Given the description of an element on the screen output the (x, y) to click on. 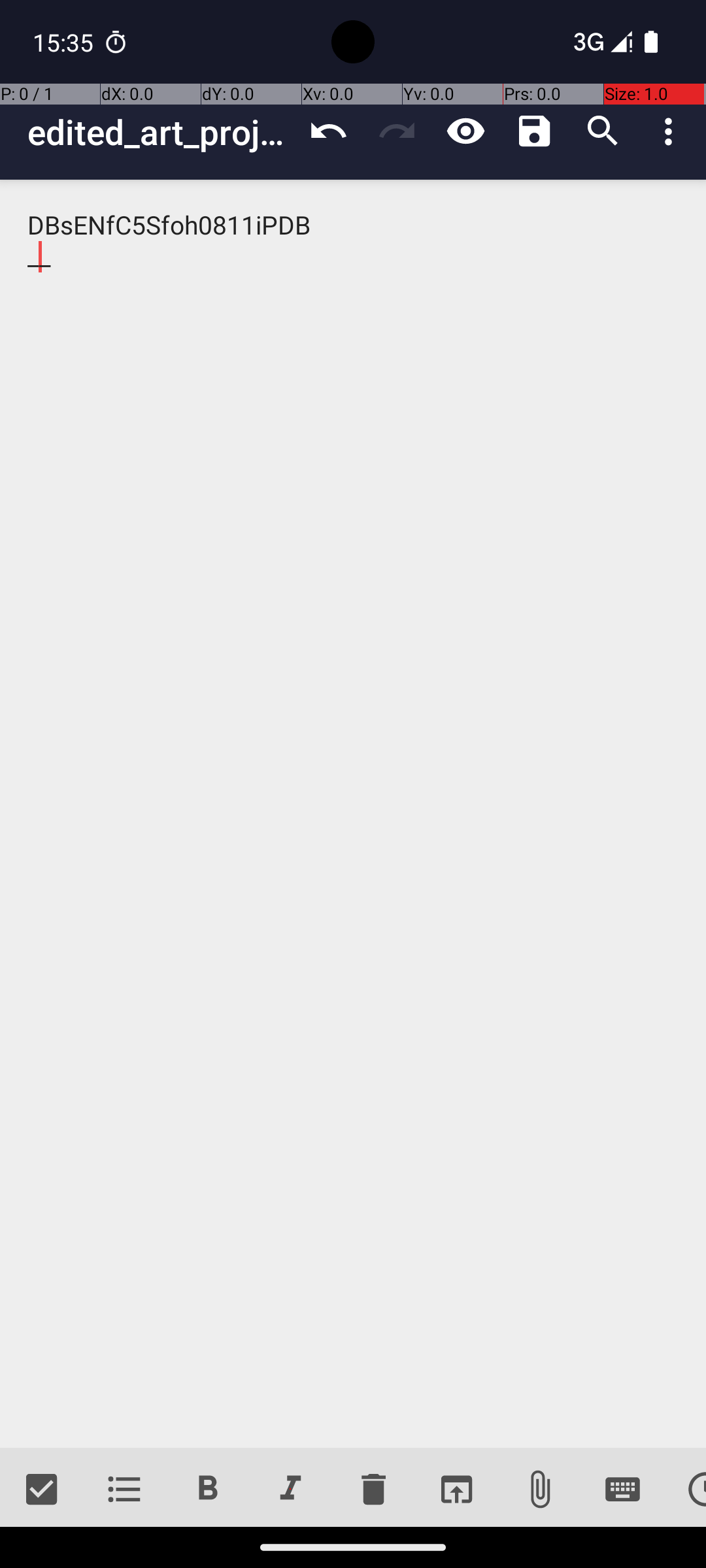
edited_art_project_sketches Element type: android.widget.TextView (160, 131)
DBsENfC5Sfoh0811iPDB
__ Element type: android.widget.EditText (353, 813)
